Given the description of an element on the screen output the (x, y) to click on. 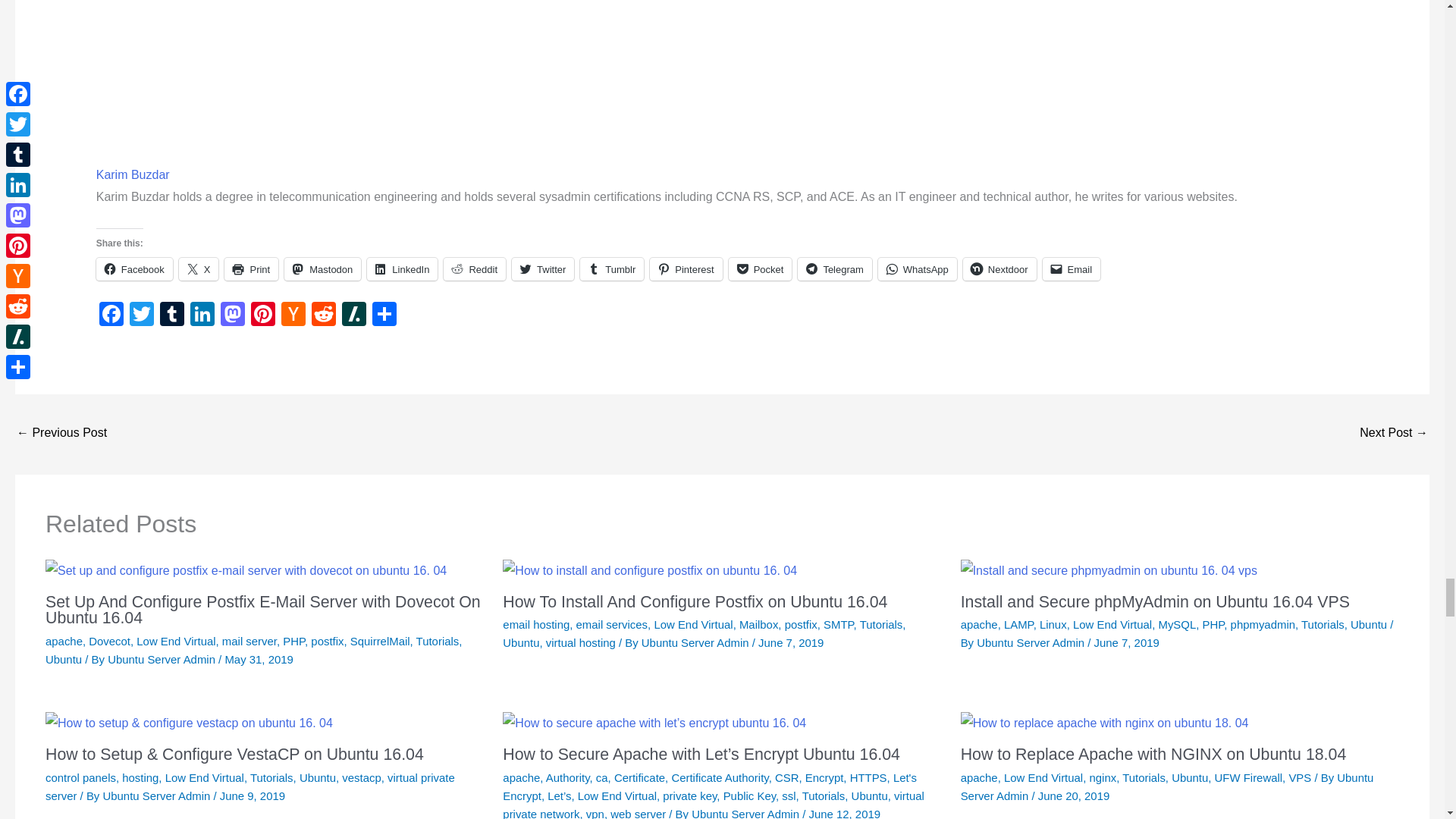
Mastodon (322, 268)
Facebook (134, 268)
X (199, 268)
Print (251, 268)
Karim Buzdar (133, 174)
